Given the description of an element on the screen output the (x, y) to click on. 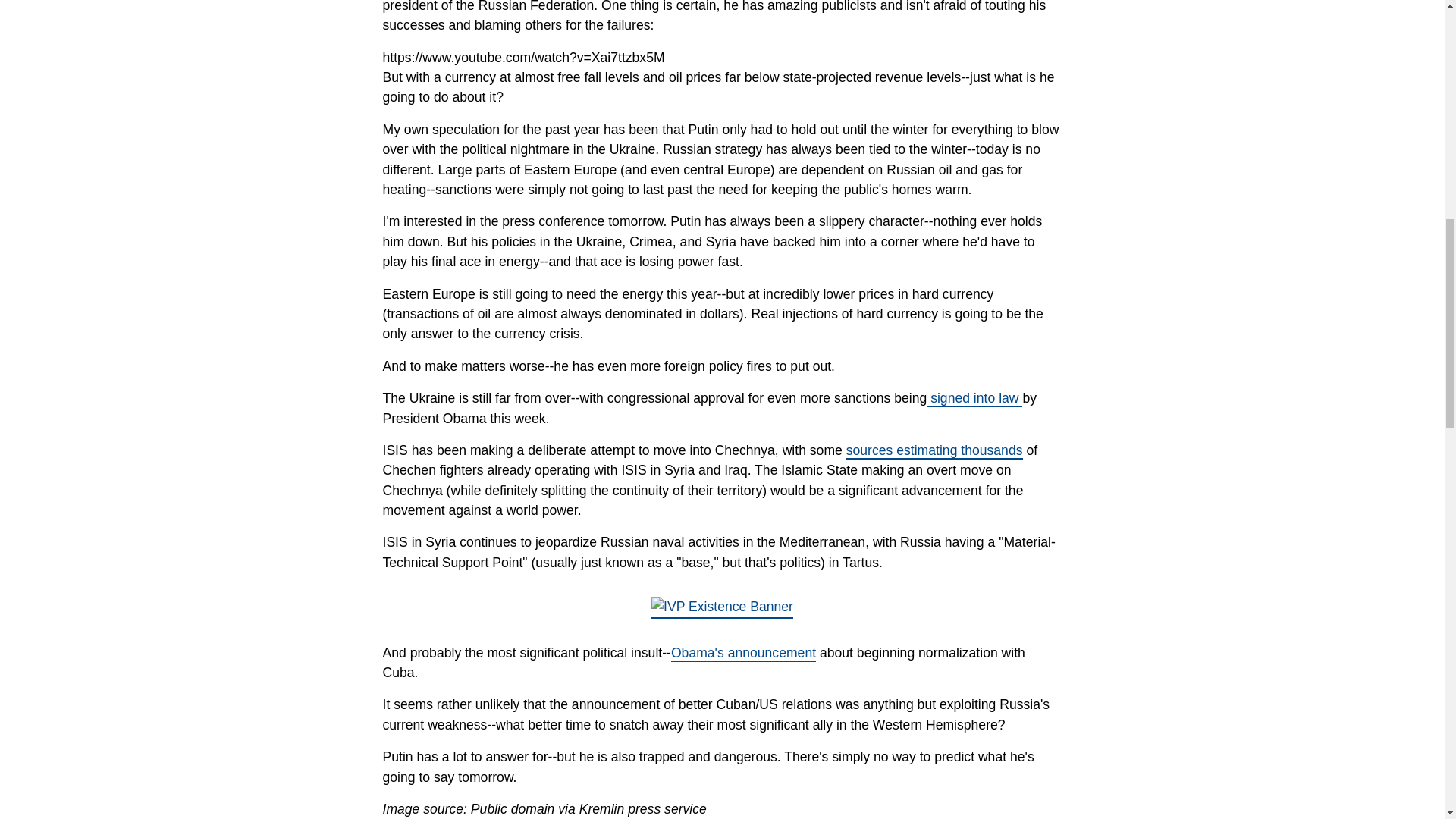
signed into law (974, 398)
sources estimating thousands (934, 451)
Obama's announcement (743, 653)
